Given the description of an element on the screen output the (x, y) to click on. 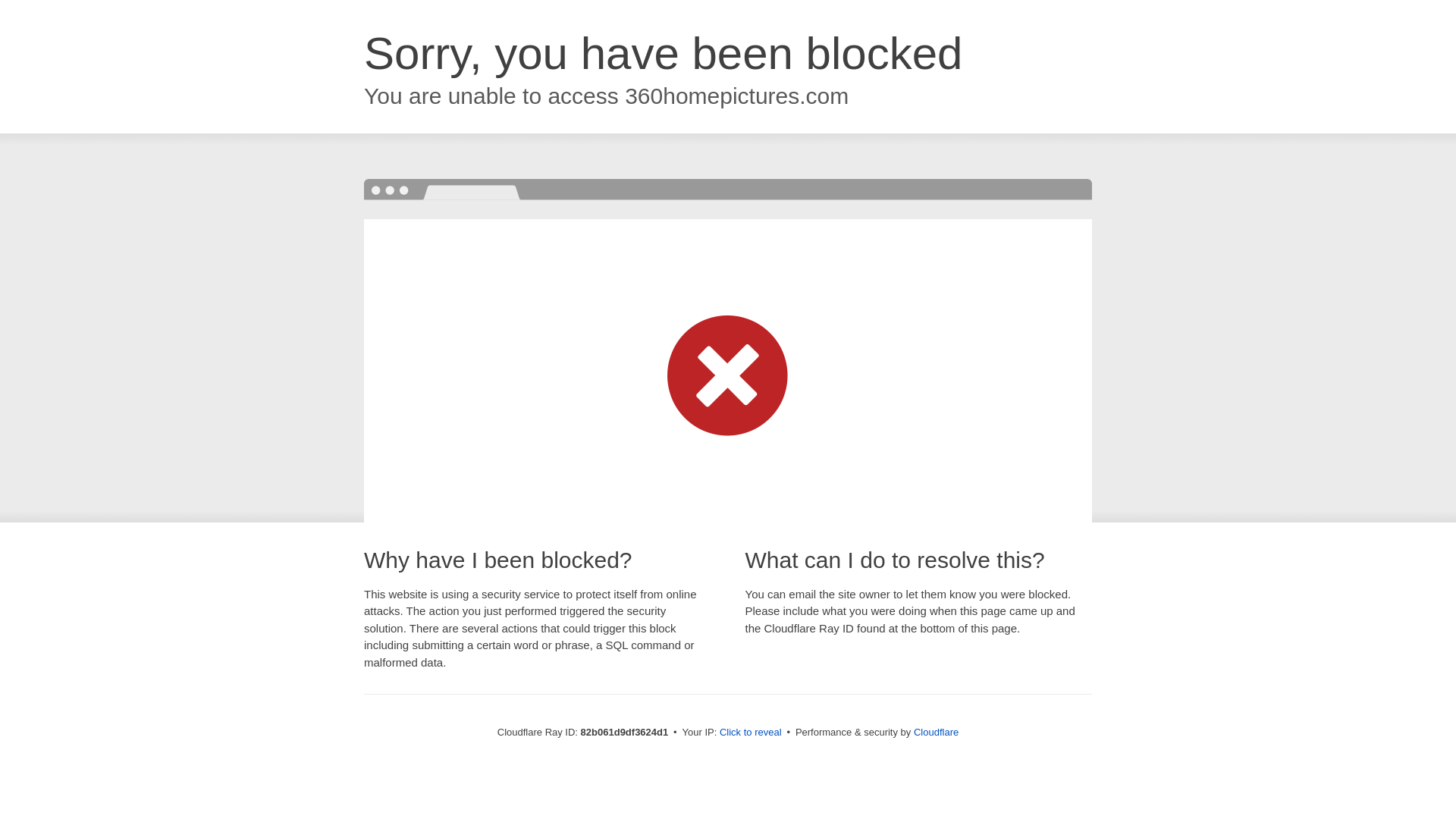
Cloudflare Element type: text (935, 731)
Click to reveal Element type: text (750, 732)
